Given the description of an element on the screen output the (x, y) to click on. 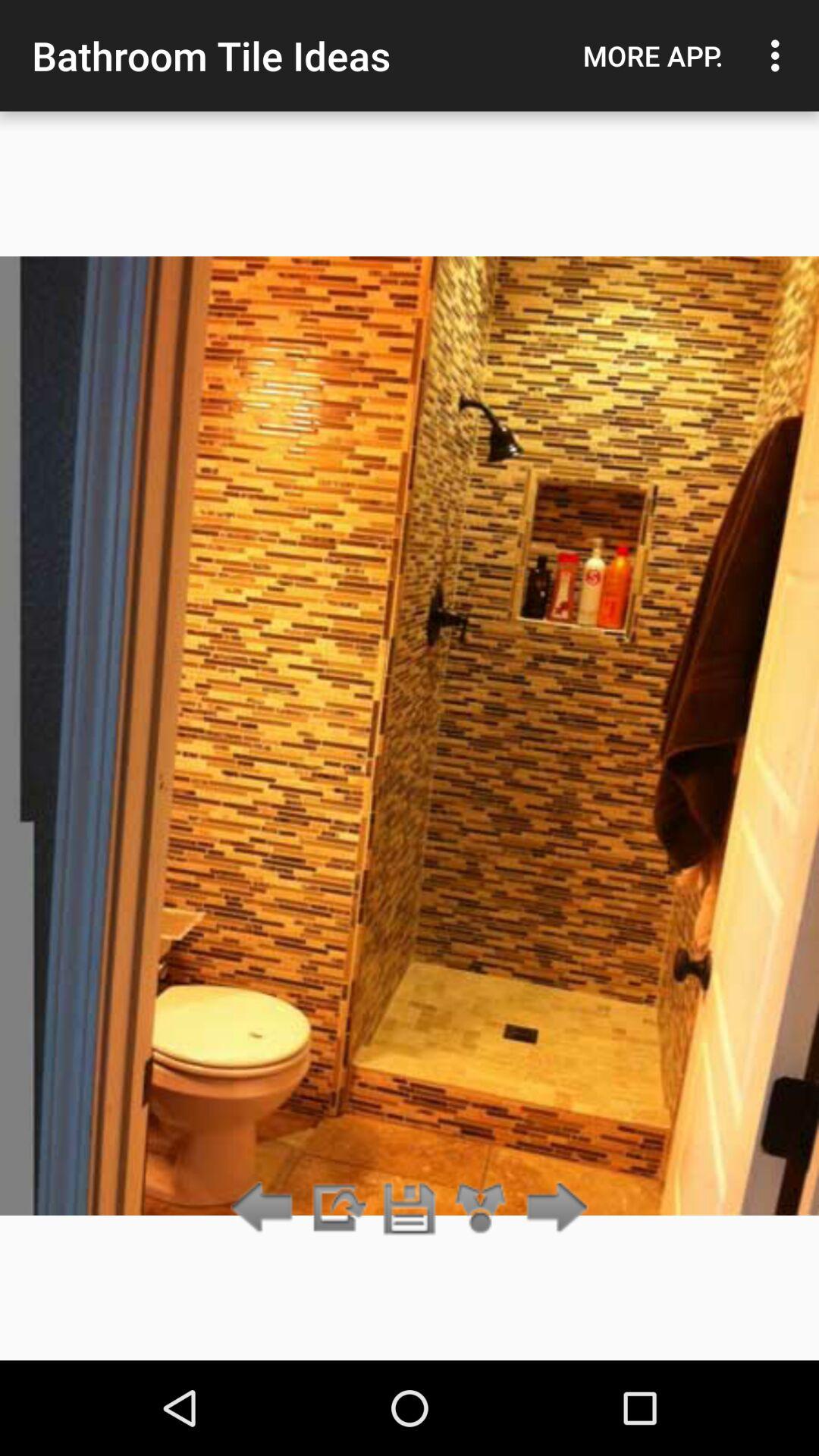
save (409, 1208)
